Given the description of an element on the screen output the (x, y) to click on. 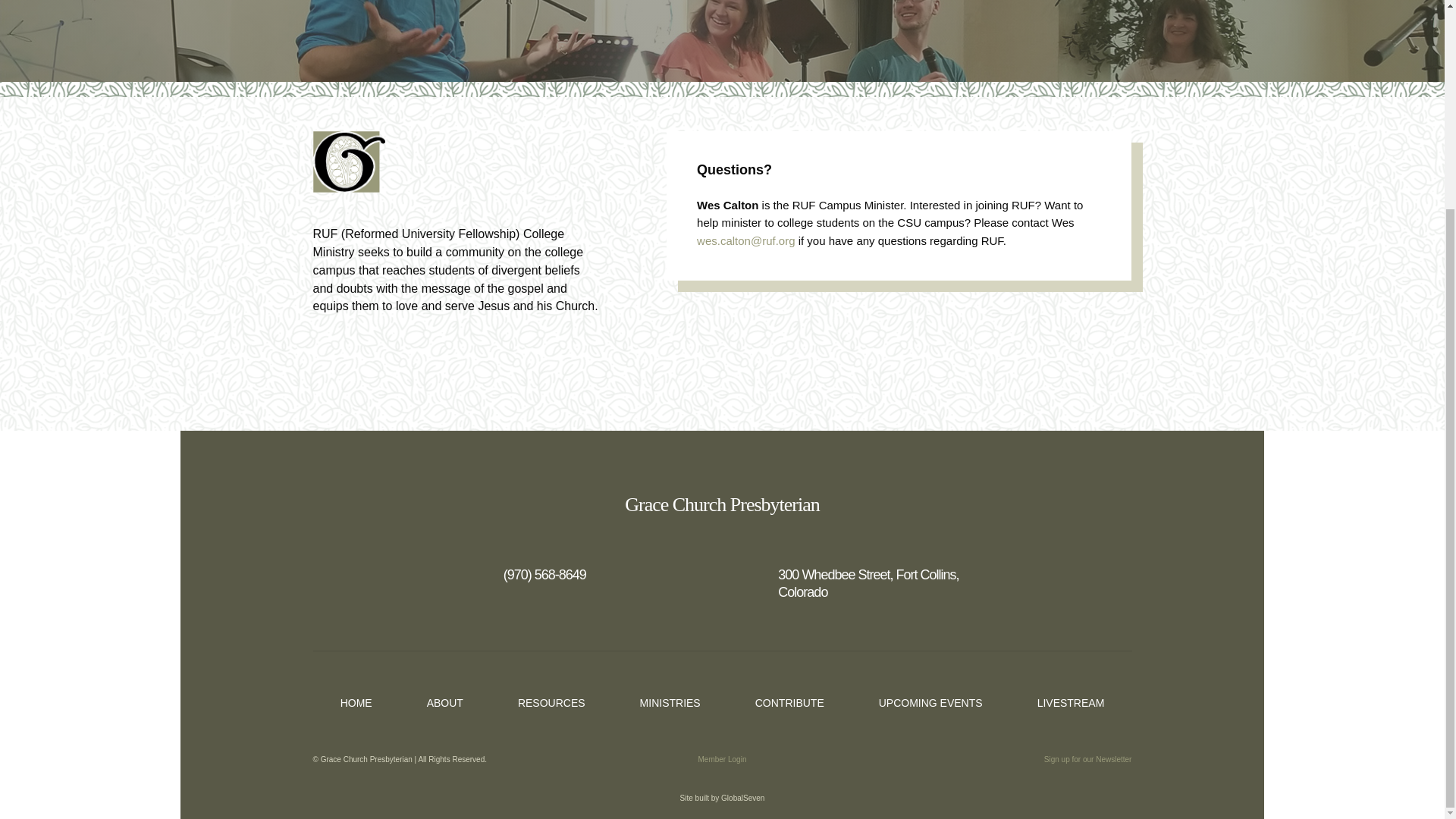
Asset 15 (348, 161)
